Given the description of an element on the screen output the (x, y) to click on. 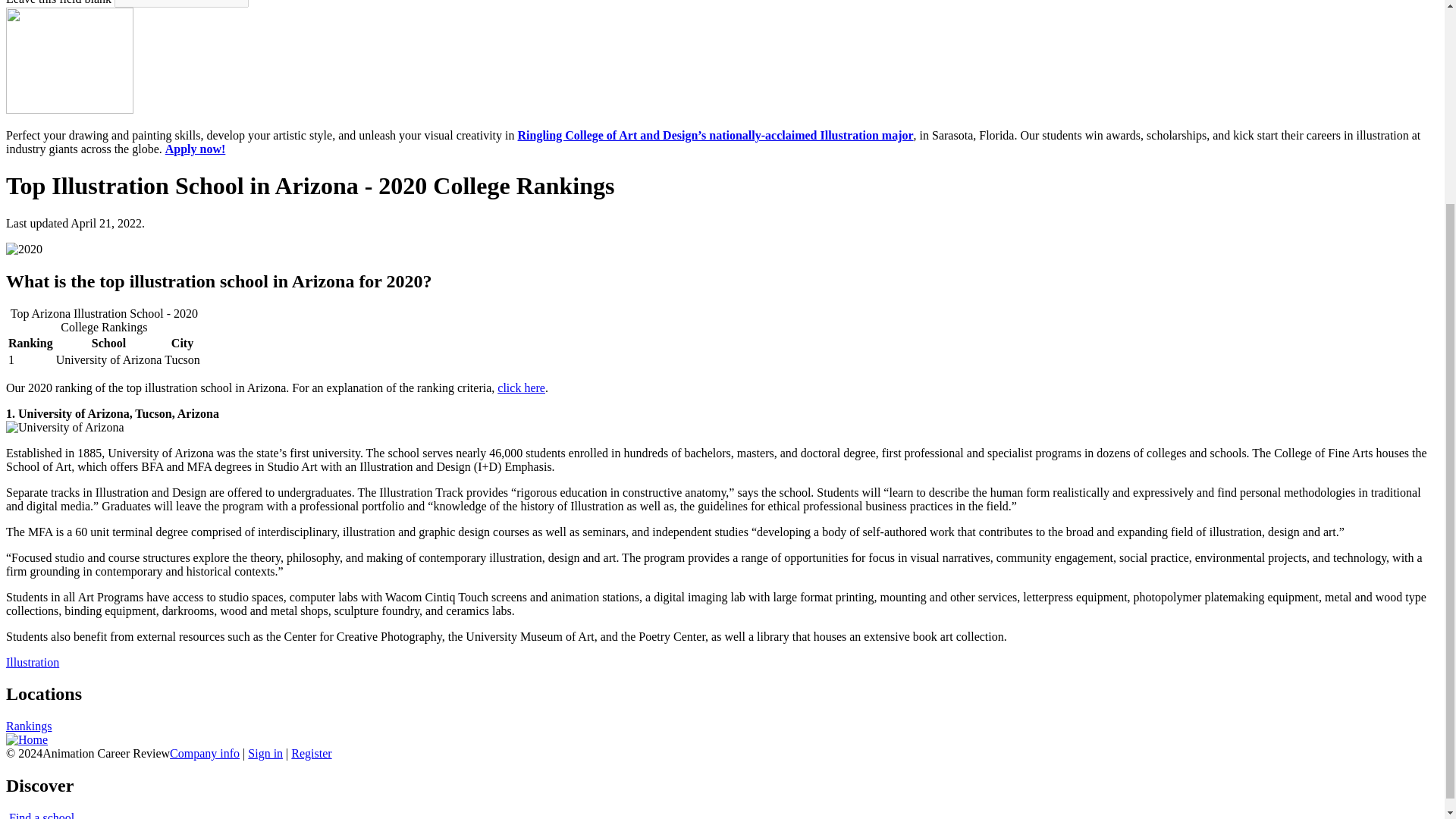
Company info (205, 753)
Home (26, 739)
click here (520, 386)
Apply now! (195, 148)
Sign in (264, 753)
Illustration (32, 661)
Register (311, 753)
Rankings (27, 725)
